Given the description of an element on the screen output the (x, y) to click on. 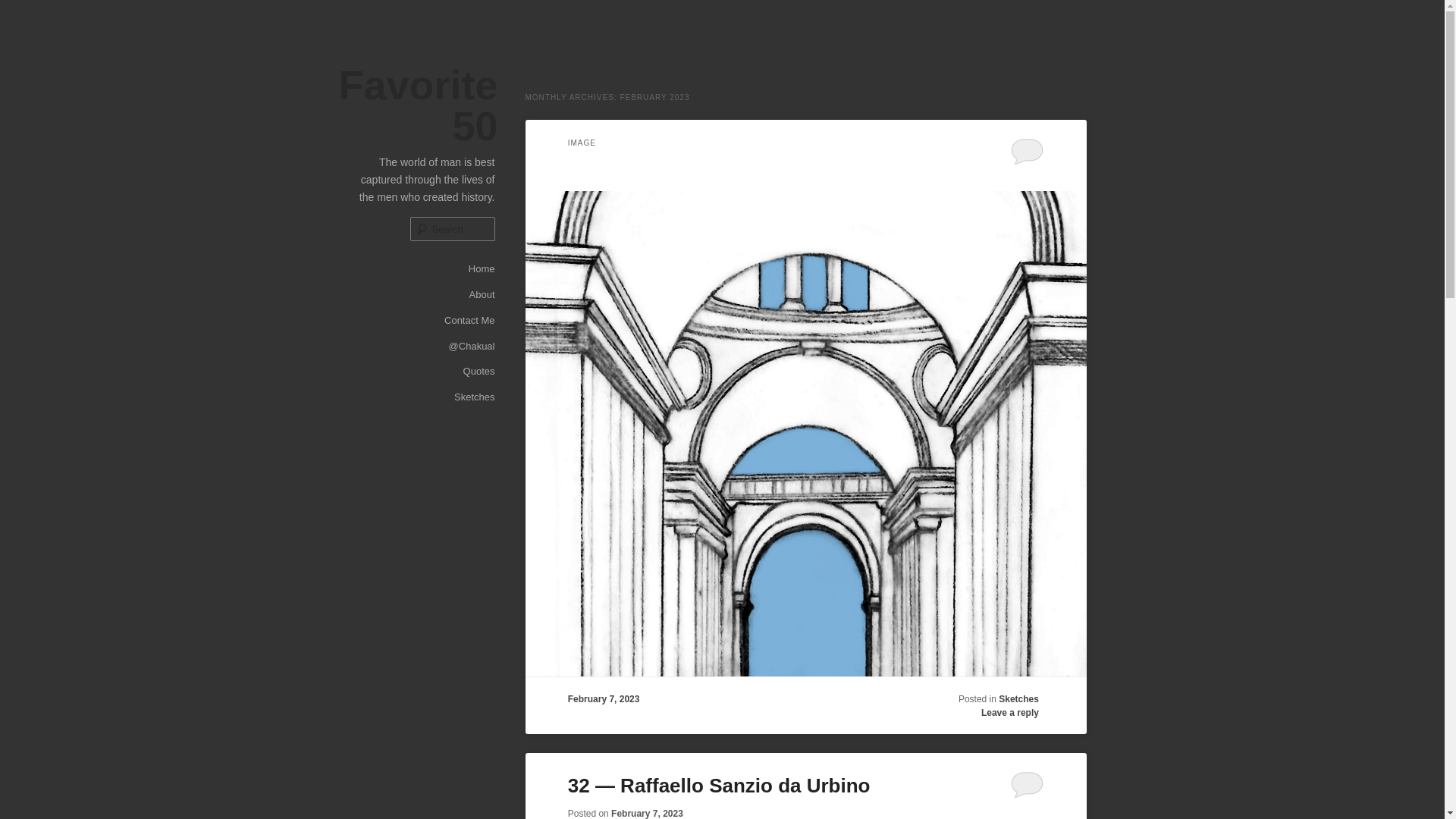
Contact Me (469, 320)
Home (481, 268)
Leave a reply (1010, 712)
1:44 pm (646, 813)
Quotes (479, 371)
Sketches (1018, 698)
February 7, 2023 (603, 698)
Sketches (474, 397)
About (481, 294)
Favorite 50 (417, 105)
Search (24, 8)
February 7, 2023 (646, 813)
